Given the description of an element on the screen output the (x, y) to click on. 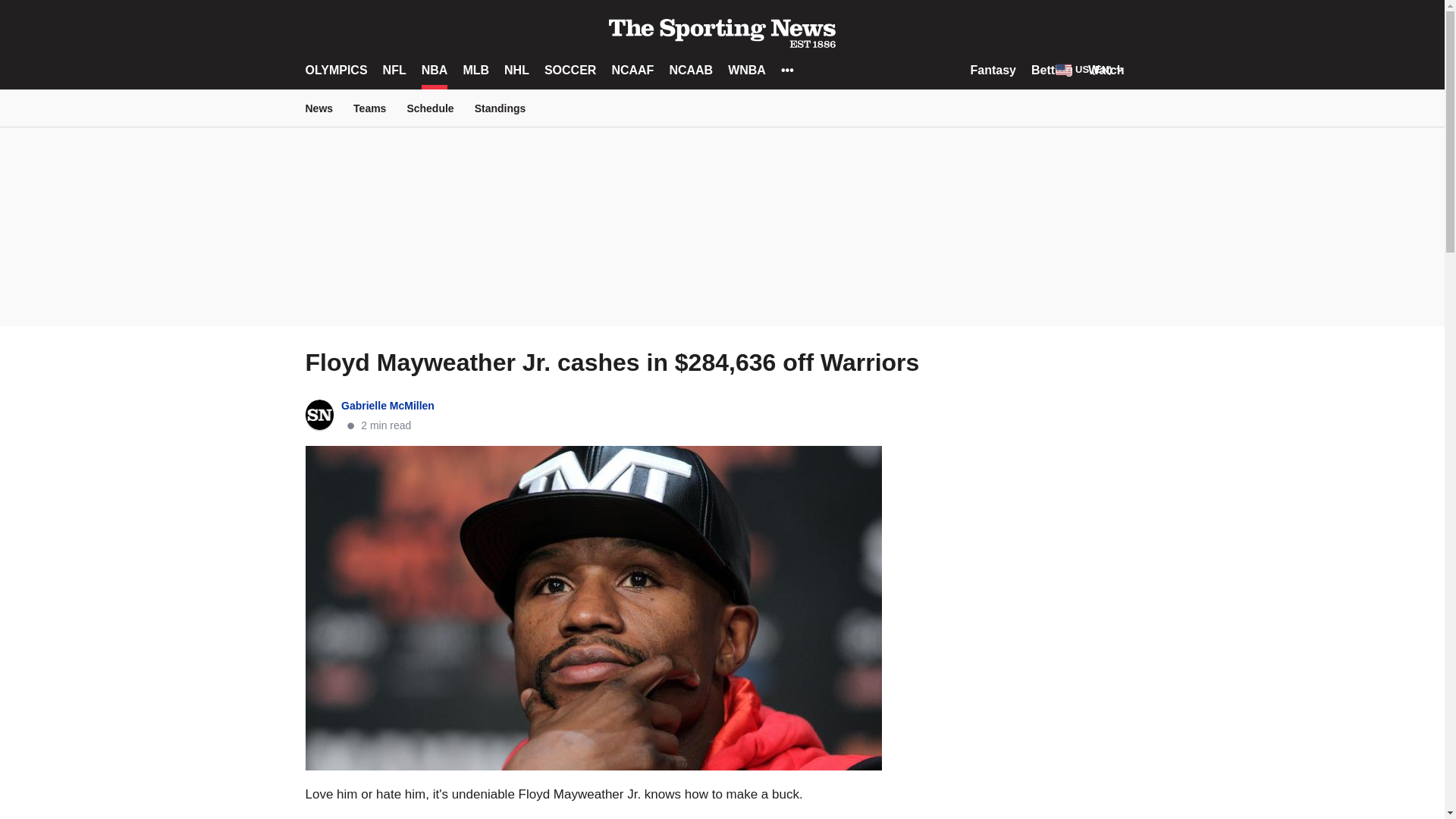
SOCCER (569, 70)
WNBA (746, 70)
NCAAB (690, 70)
NCAAF (632, 70)
OLYMPICS (335, 70)
